Given the description of an element on the screen output the (x, y) to click on. 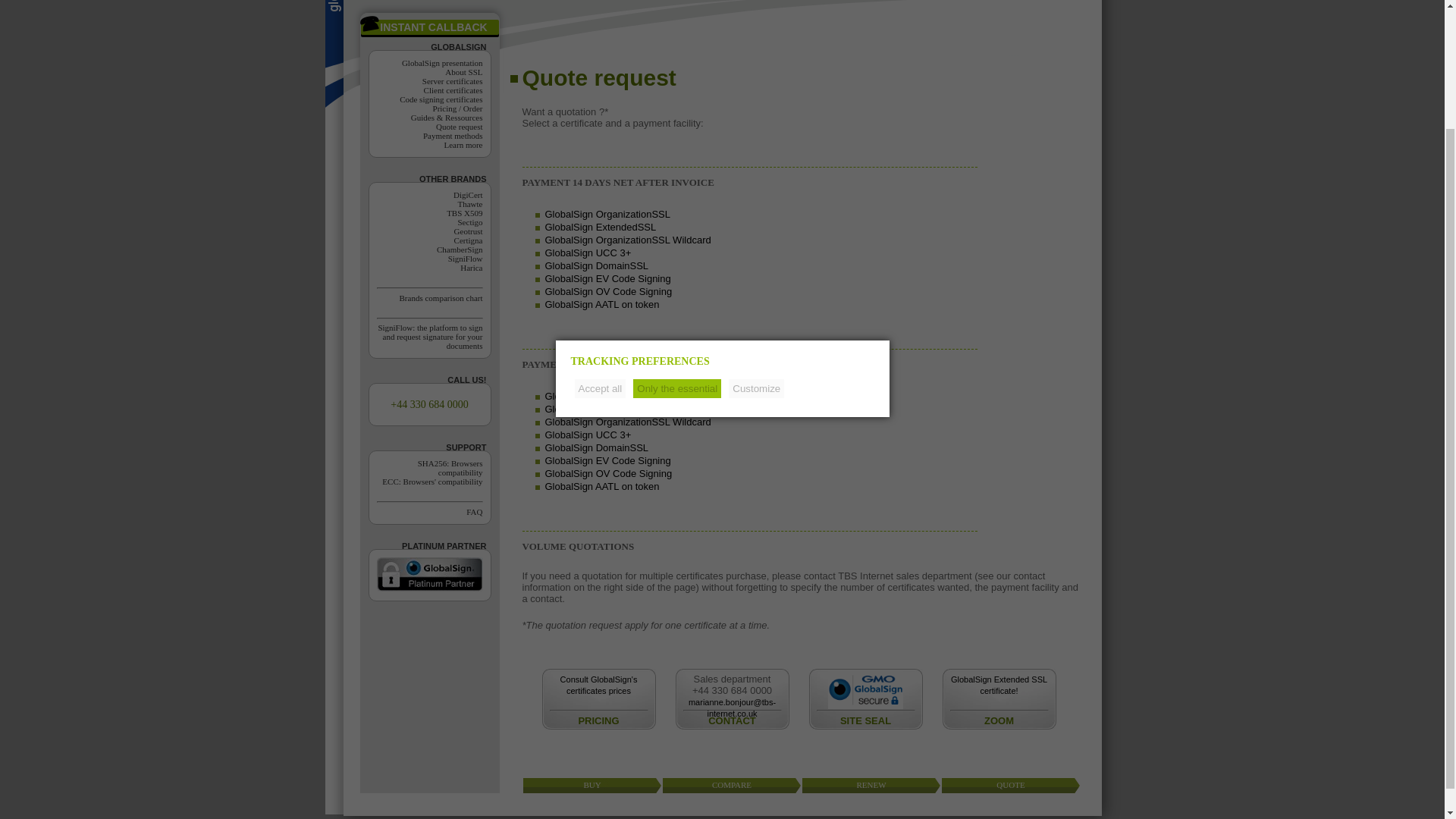
Only the essential (676, 240)
Customize (756, 240)
Accept all (600, 240)
